Given the description of an element on the screen output the (x, y) to click on. 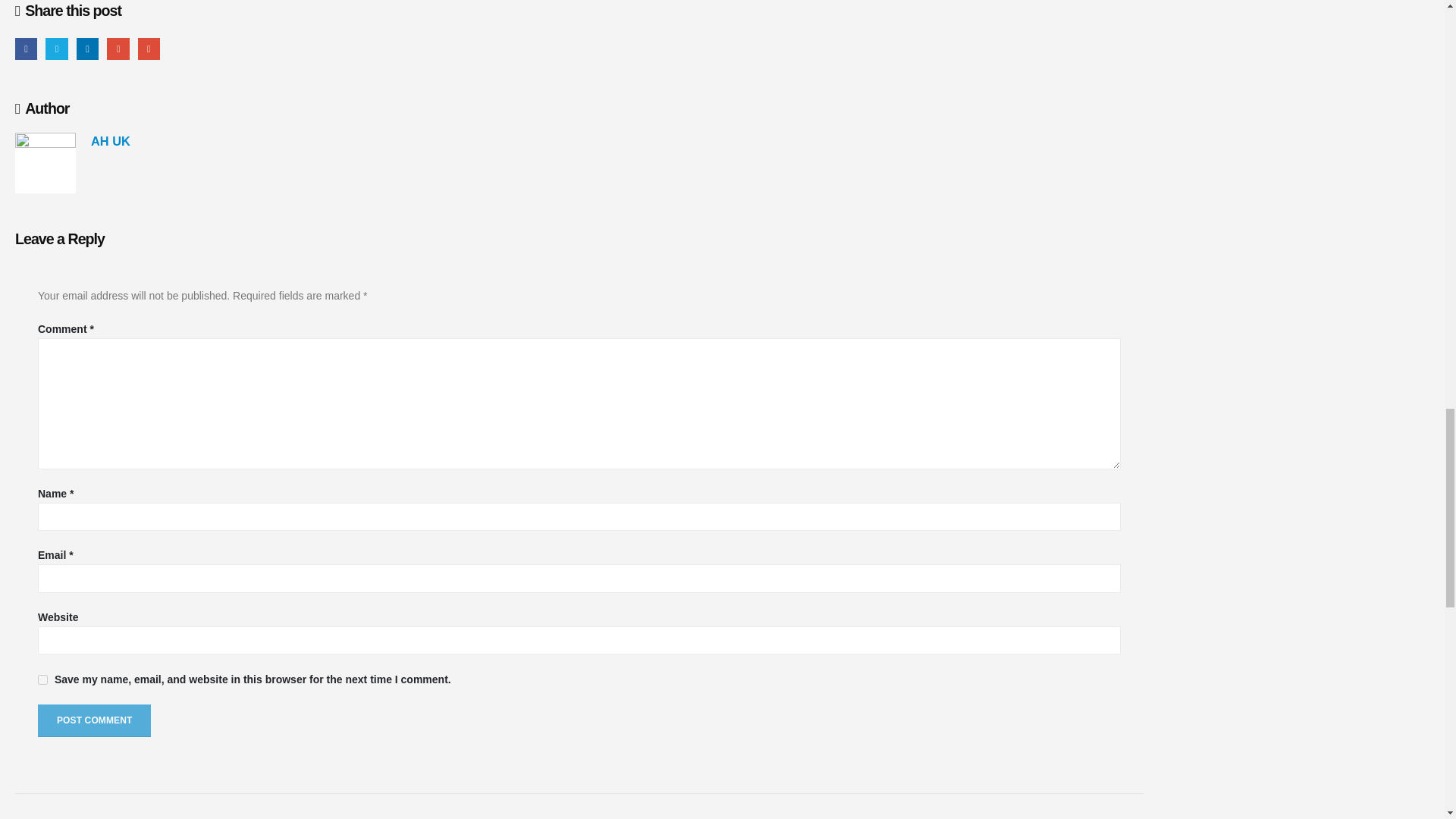
Facebook (25, 48)
Posts by AH UK (110, 141)
Twitter (55, 48)
LinkedIn (88, 48)
Facebook (25, 48)
yes (42, 679)
Email (149, 48)
LinkedIn (88, 48)
Post Comment (94, 720)
Twitter (55, 48)
Email (149, 48)
Post Comment (94, 720)
AH UK (110, 141)
